Given the description of an element on the screen output the (x, y) to click on. 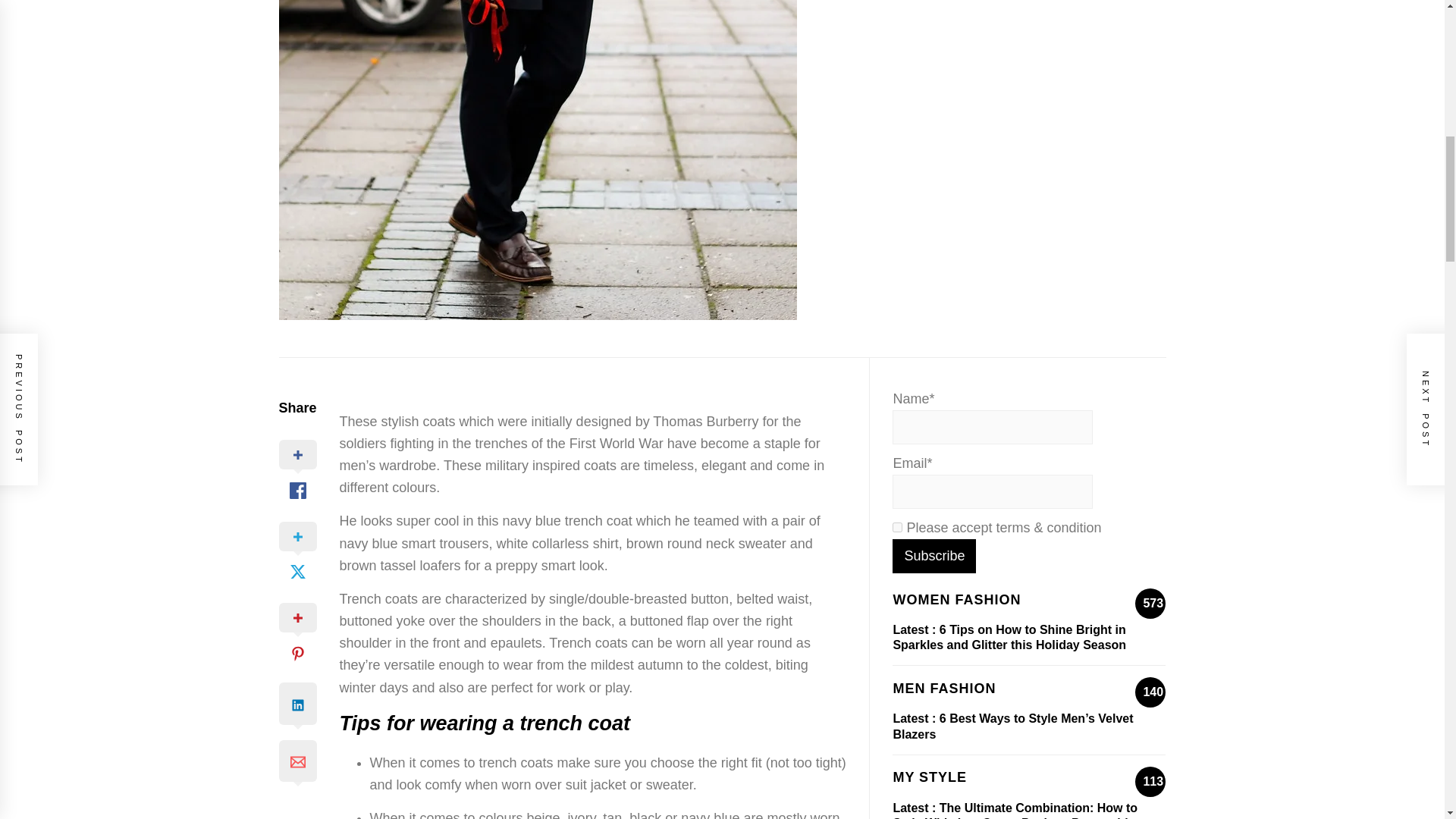
Subscribe (933, 555)
true (897, 527)
